Given the description of an element on the screen output the (x, y) to click on. 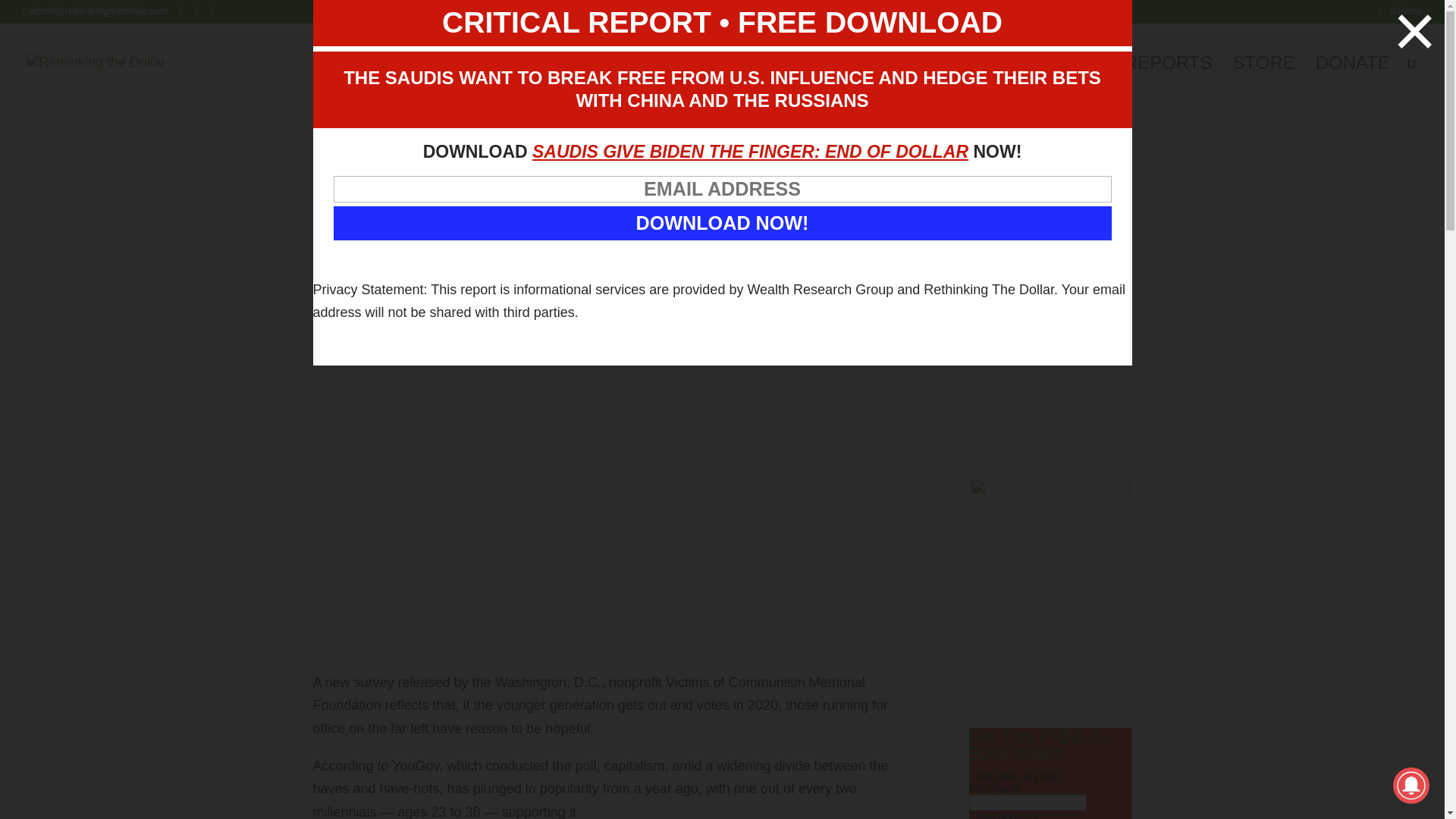
0 Items (1400, 10)
Download Now! (722, 223)
Download Now! (722, 223)
DONATE (1353, 79)
STORE (1264, 79)
TOP 20 BOOKSTORE (947, 79)
News (418, 278)
CRISIS REPORTS (1134, 79)
YouTube video player (1050, 247)
